Given the description of an element on the screen output the (x, y) to click on. 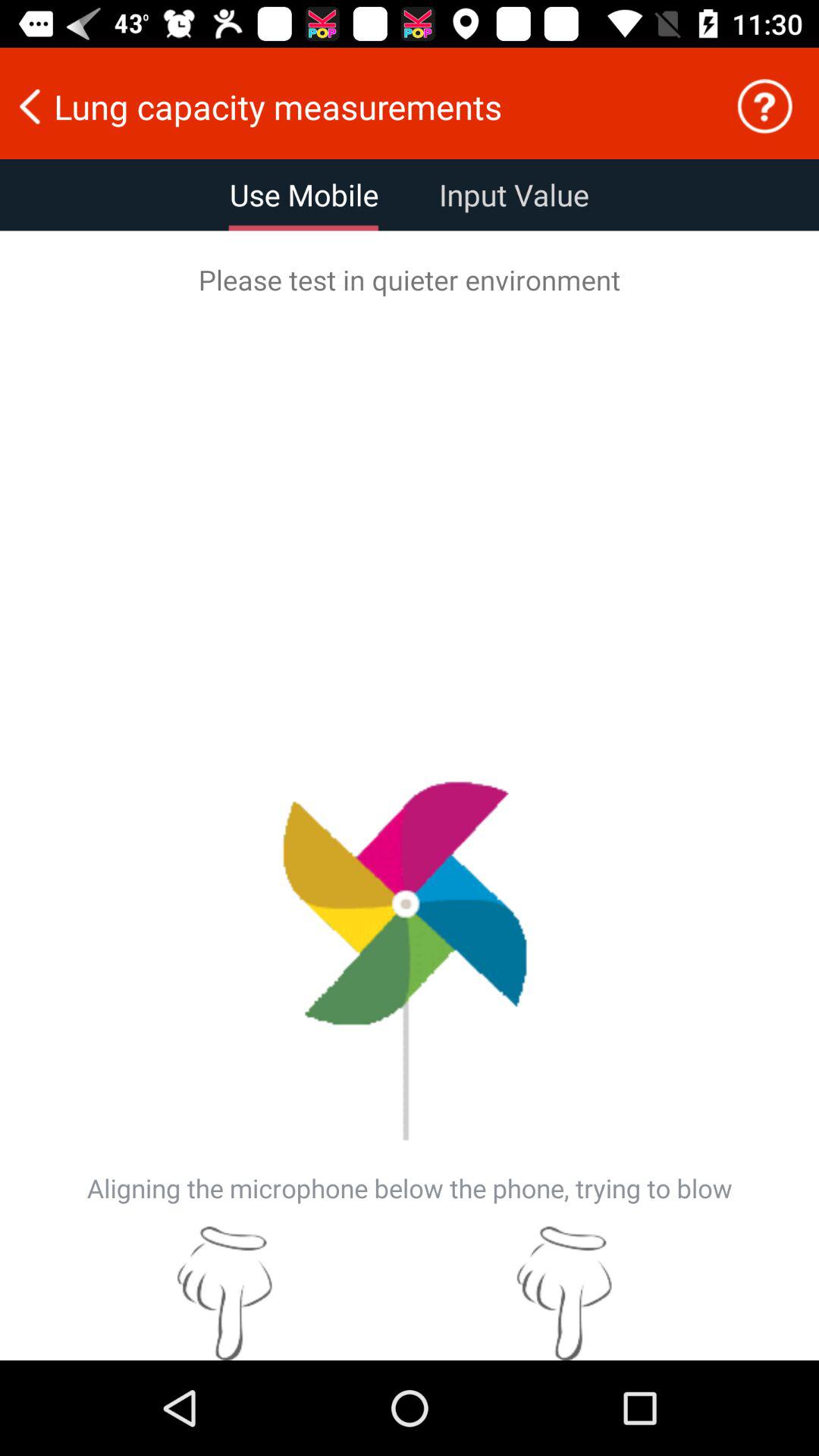
launch the item below lung capacity measurements icon (513, 194)
